Given the description of an element on the screen output the (x, y) to click on. 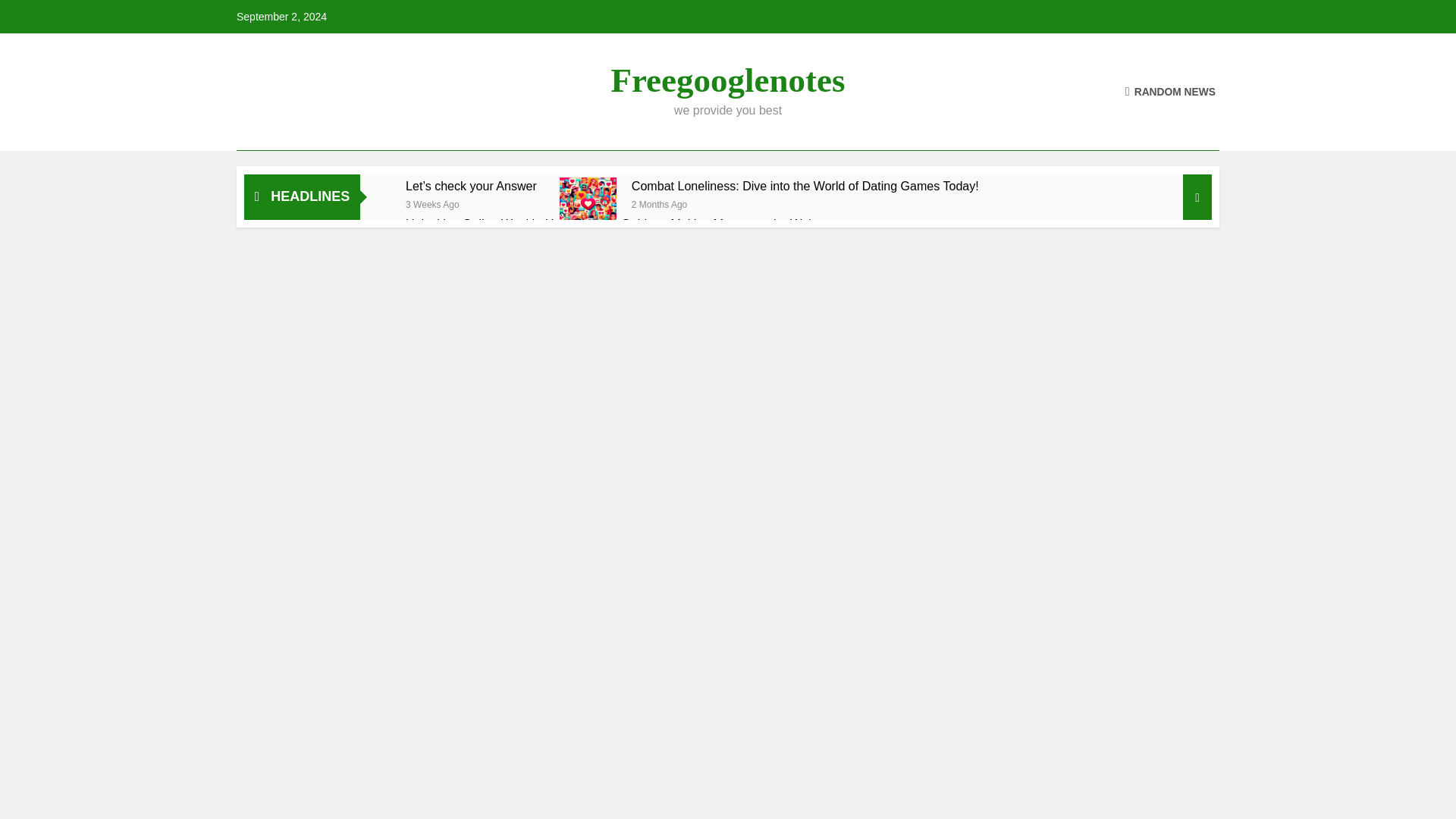
Freegooglenotes (727, 80)
3 Weeks Ago (433, 203)
RANDOM NEWS (1170, 91)
2 Months Ago (659, 203)
